Given the description of an element on the screen output the (x, y) to click on. 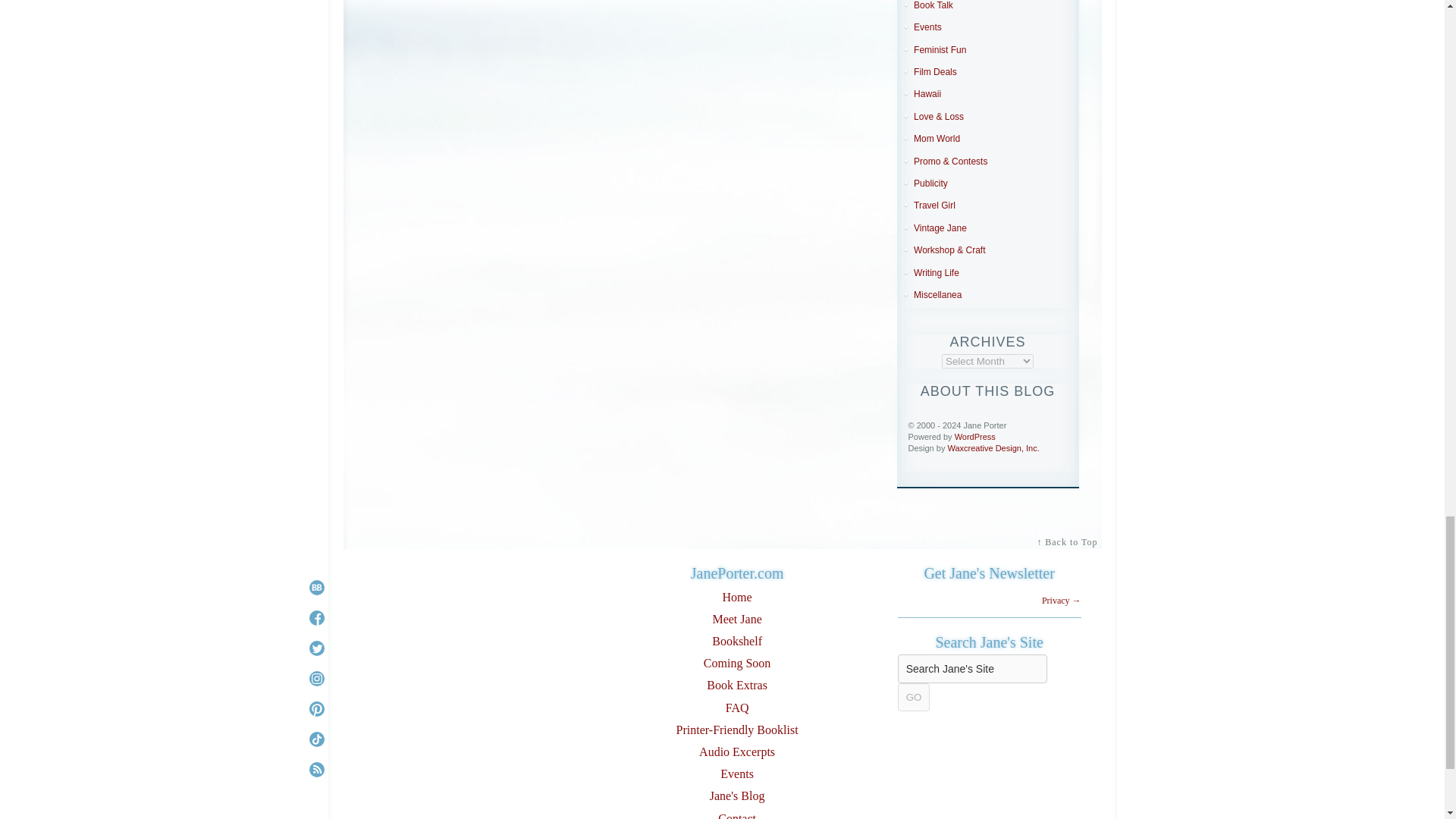
Search Jane's Site (972, 668)
GO (914, 697)
Search for: (972, 668)
Search Jane's Site (972, 668)
